Given the description of an element on the screen output the (x, y) to click on. 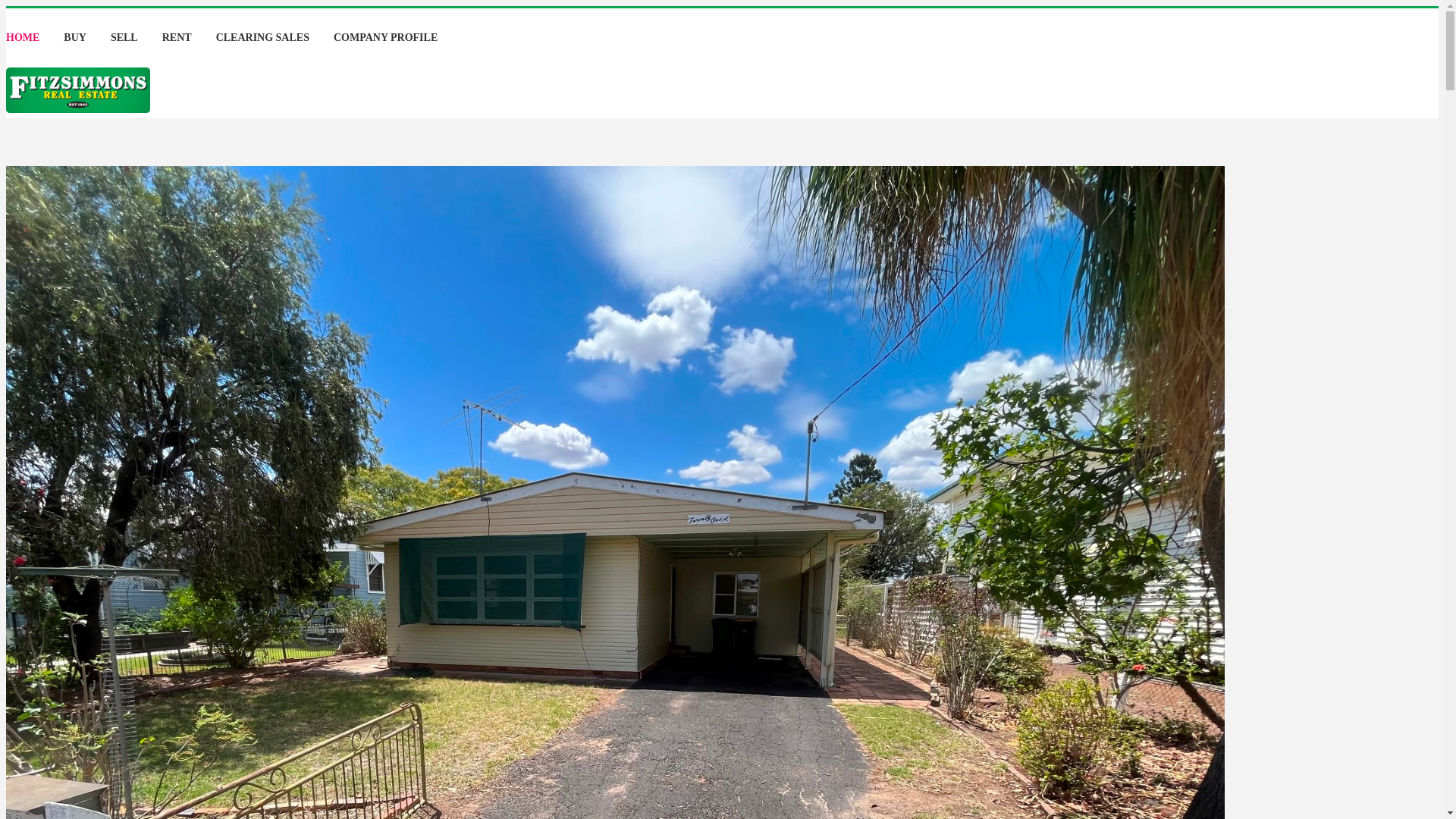
COMPANY PROFILE Element type: text (385, 37)
CLEARING SALES Element type: text (262, 37)
HOME Element type: text (22, 37)
SELL Element type: text (124, 37)
BUY Element type: text (74, 37)
RENT Element type: text (176, 37)
